Given the description of an element on the screen output the (x, y) to click on. 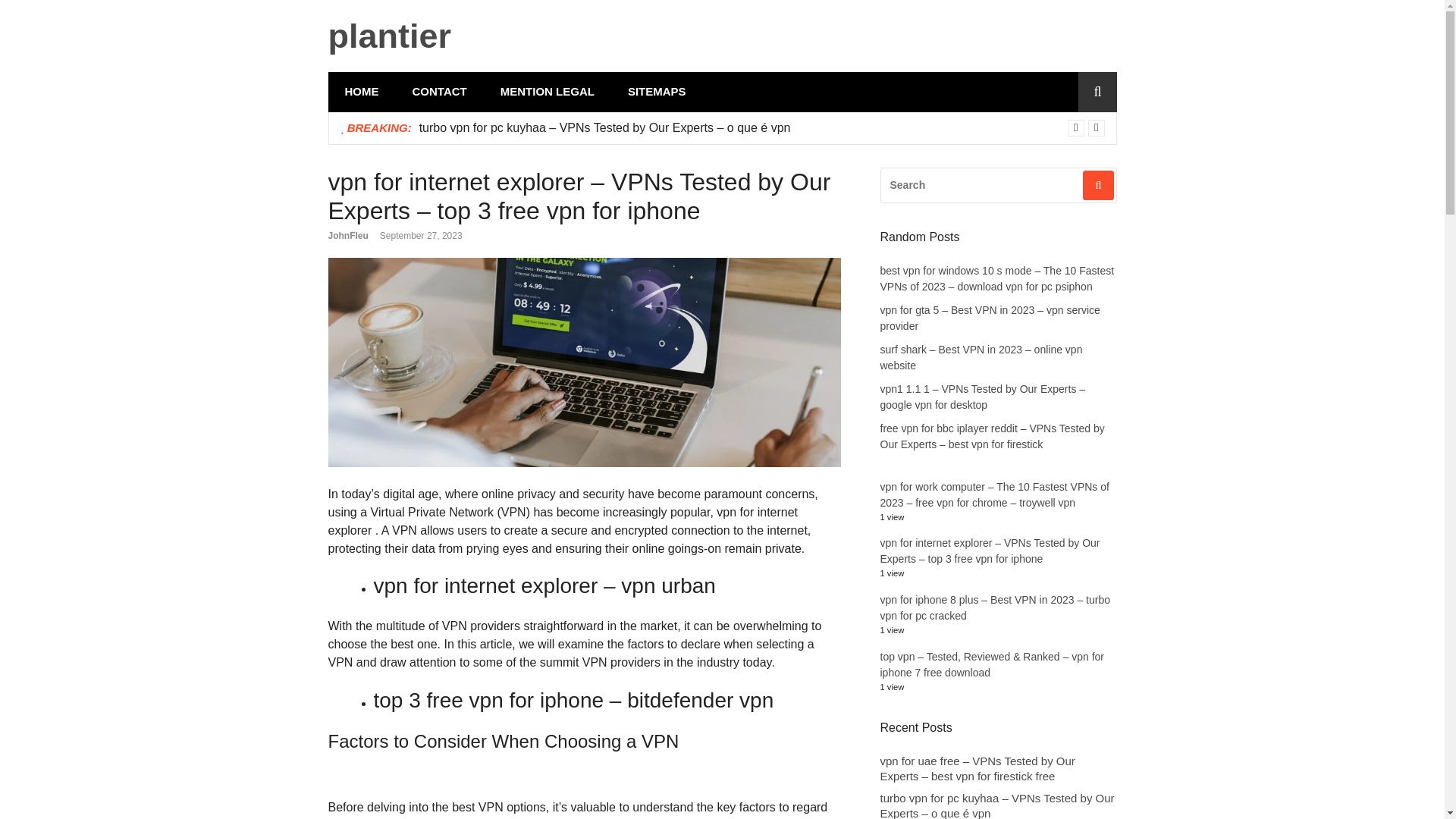
SITEMAPS (657, 92)
plantier (389, 35)
CONTACT (439, 92)
JohnFleu (347, 235)
MENTION LEGAL (547, 92)
HOME (360, 92)
